Given the description of an element on the screen output the (x, y) to click on. 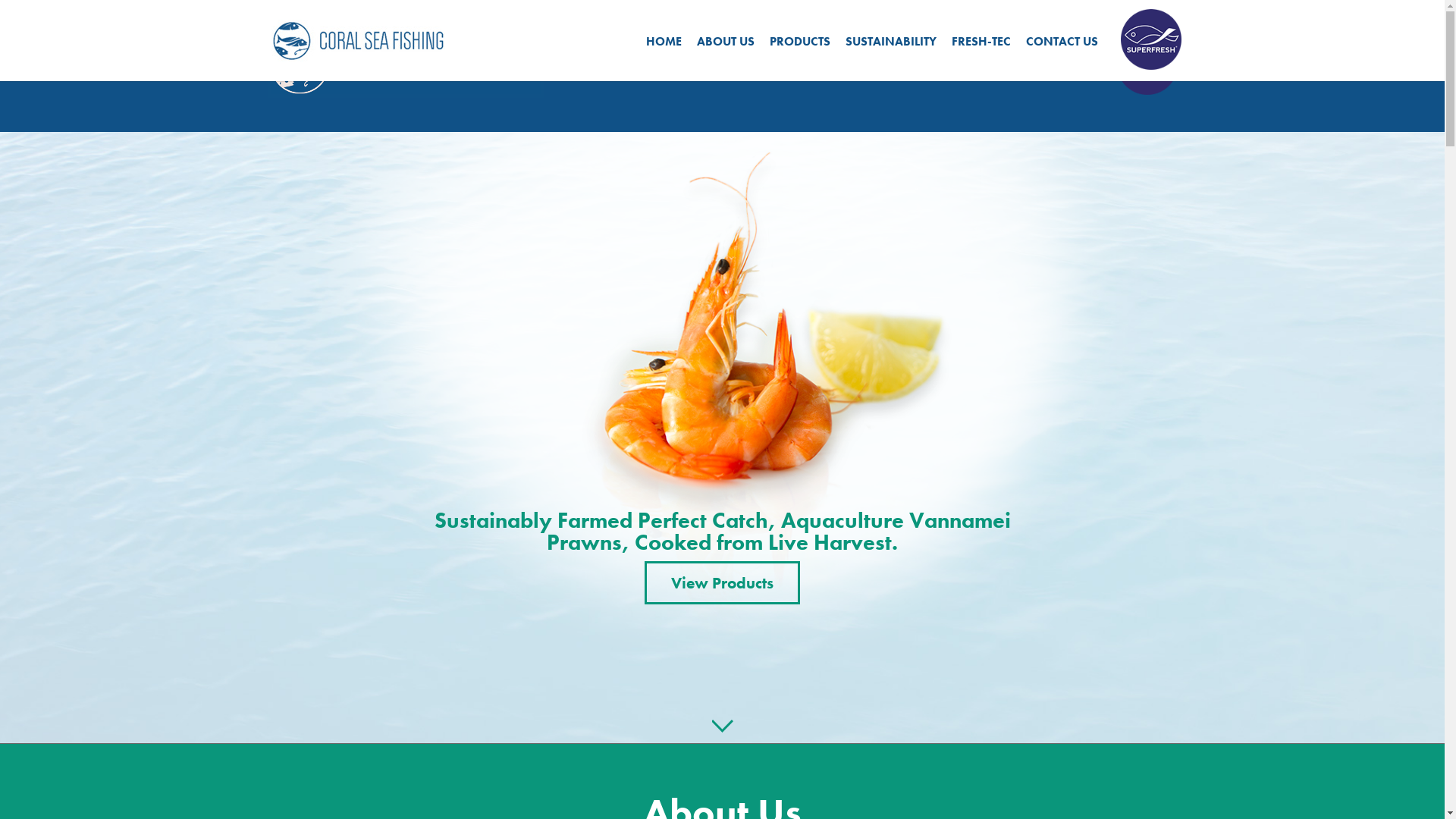
HOME Element type: text (663, 41)
CONTACT US Element type: text (1058, 64)
CONTACT US Element type: text (1061, 41)
PRODUCTS Element type: text (798, 41)
PRODUCTS Element type: text (795, 64)
ABOUT US Element type: text (724, 41)
FRESH-TEC Element type: text (977, 64)
ABOUT US Element type: text (721, 64)
SUSTAINABILITY Element type: text (889, 41)
FRESH-TEC Element type: text (980, 41)
HOME Element type: text (659, 64)
SUSTAINABILITY Element type: text (886, 64)
View Products Element type: text (722, 582)
